Given the description of an element on the screen output the (x, y) to click on. 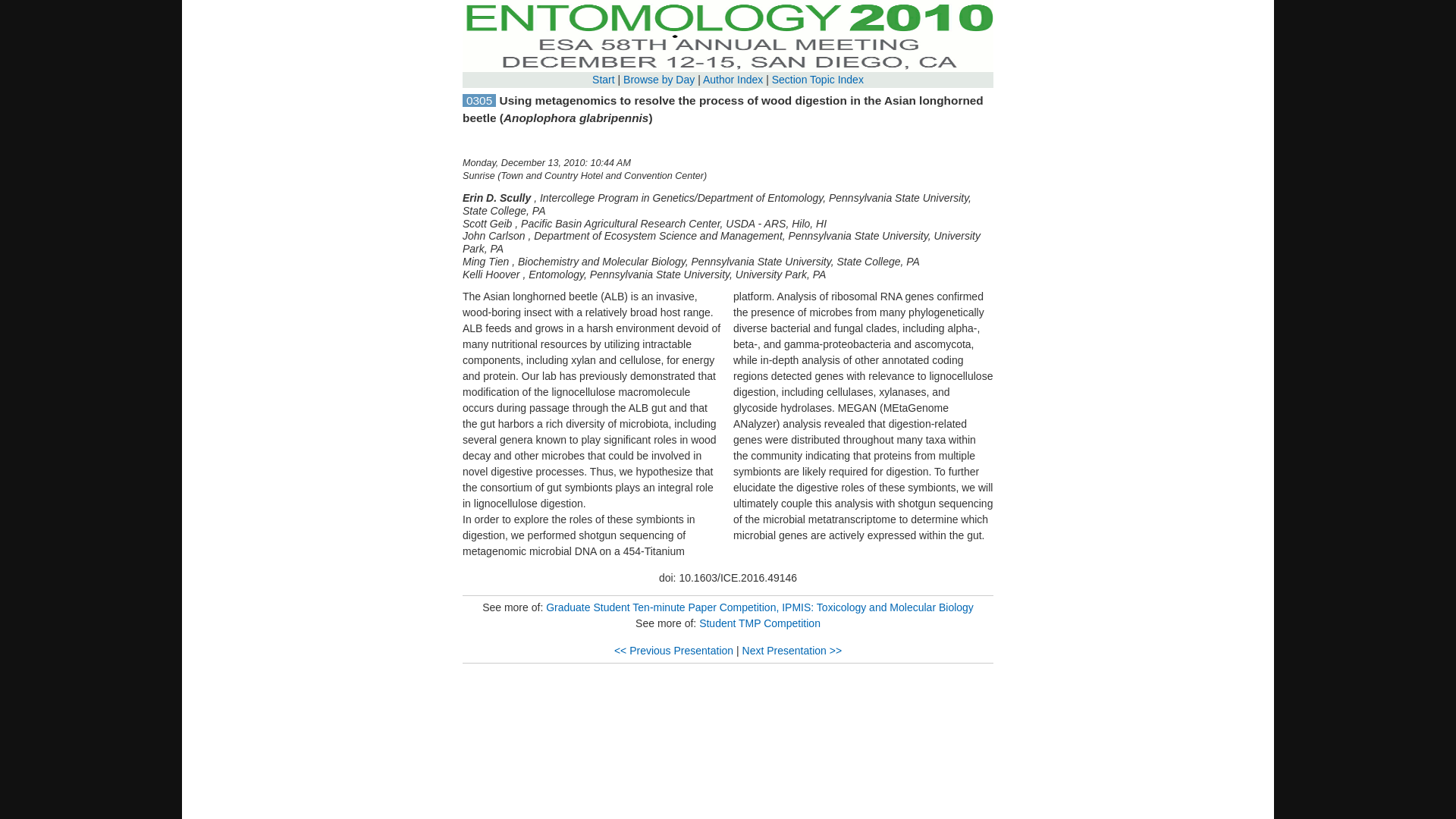
Author Index (732, 79)
Start (603, 79)
Section Topic Index (817, 79)
Browse by Day (658, 79)
Student TMP Competition (759, 623)
